Given the description of an element on the screen output the (x, y) to click on. 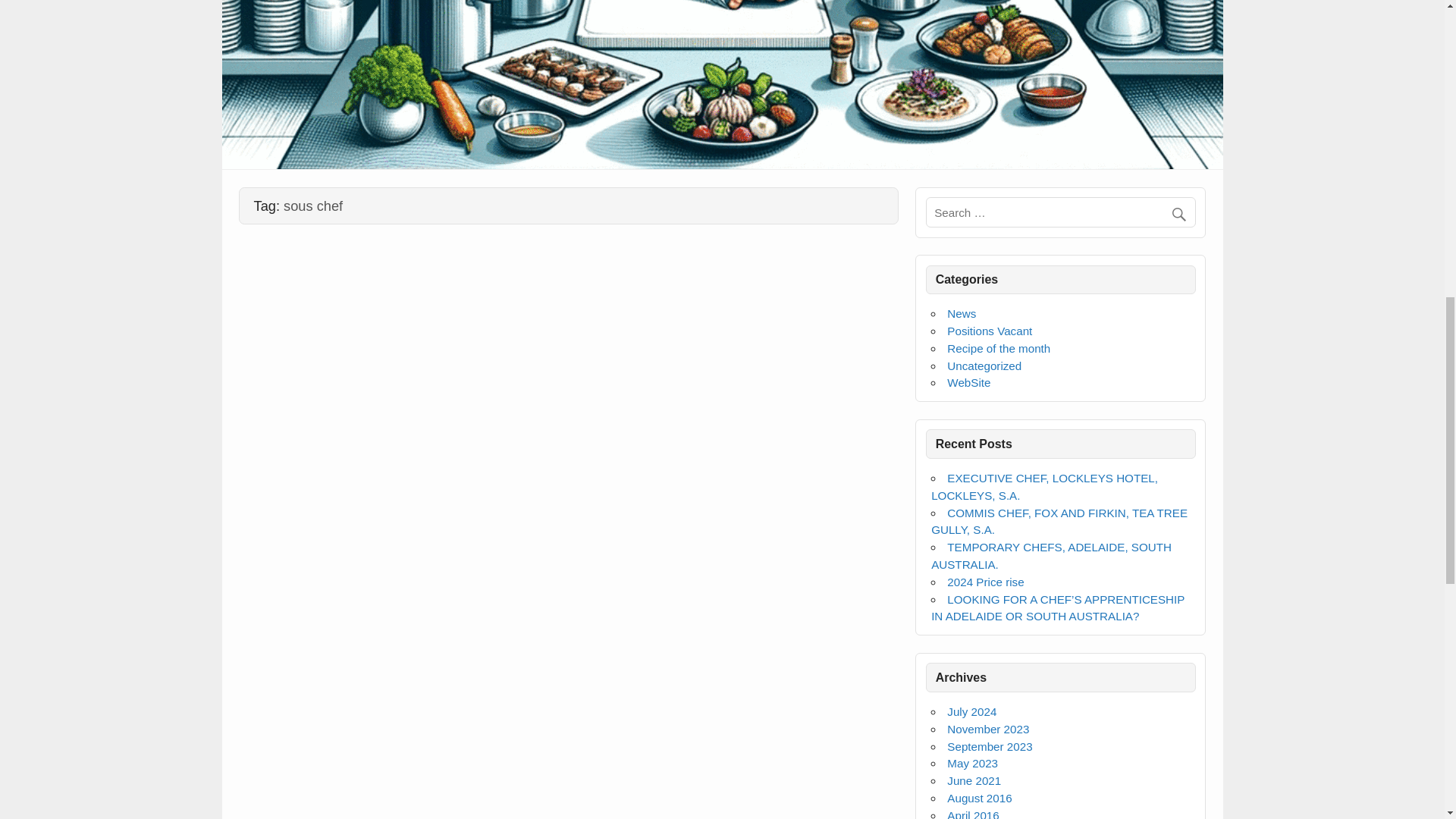
July 2024 (971, 711)
TEMPORARY CHEFS, ADELAIDE, SOUTH AUSTRALIA. (1051, 555)
November 2023 (988, 728)
2024 Price rise (985, 581)
May 2023 (972, 762)
News (961, 313)
September 2023 (989, 746)
EXECUTIVE CHEF, LOCKLEYS HOTEL, LOCKLEYS, S.A. (1044, 486)
COMMIS CHEF, FOX AND FIRKIN, TEA TREE GULLY, S.A. (1059, 521)
April 2016 (972, 814)
WebSite (968, 382)
August 2016 (979, 797)
Positions Vacant (989, 330)
Recipe of the month (998, 348)
June 2021 (974, 780)
